Given the description of an element on the screen output the (x, y) to click on. 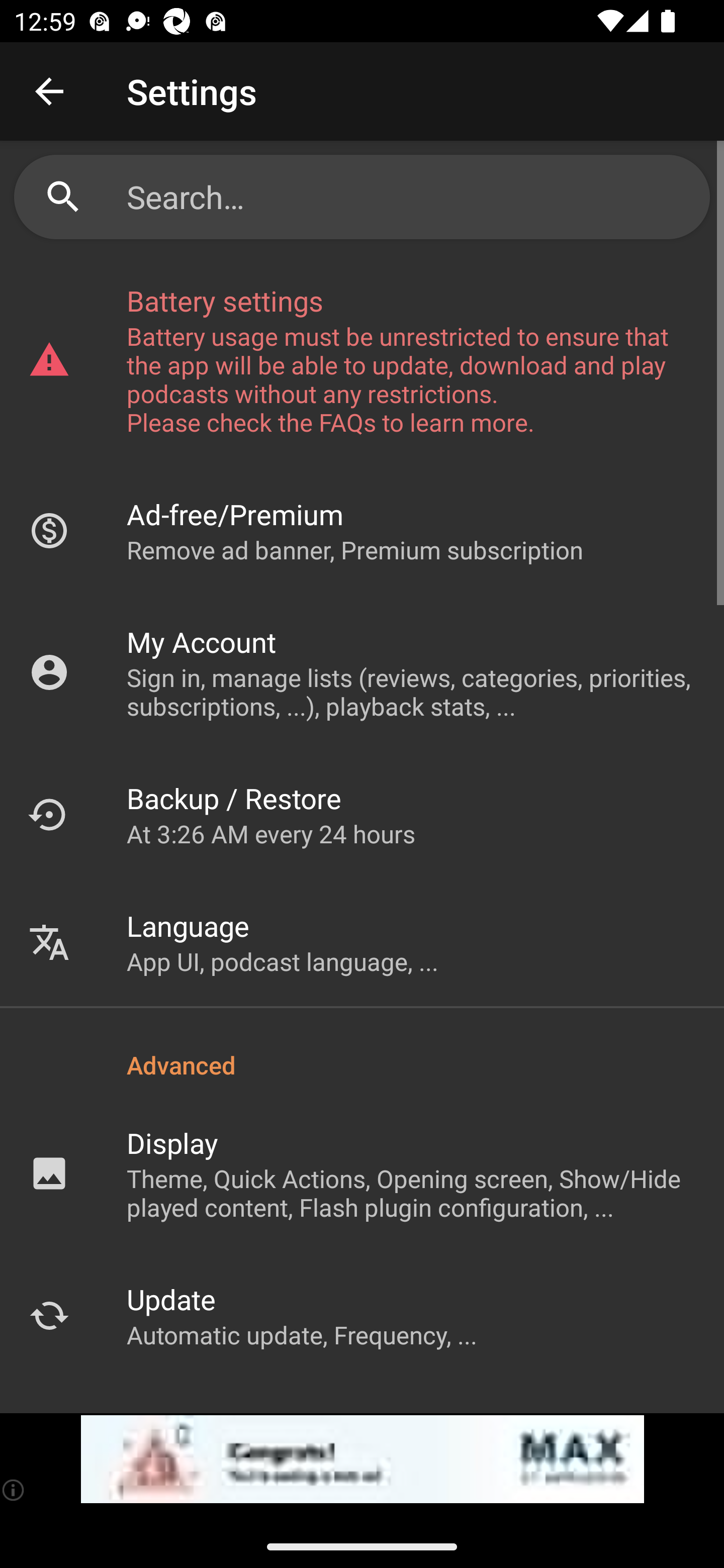
Navigate up (49, 91)
Search… (361, 197)
Search… (410, 196)
Backup / Restore At 3:26 AM every 24 hours (362, 814)
Language App UI, podcast language, ... (362, 942)
Update Automatic update, Frequency, ... (362, 1315)
app-monetization (362, 1459)
(i) (14, 1489)
